Given the description of an element on the screen output the (x, y) to click on. 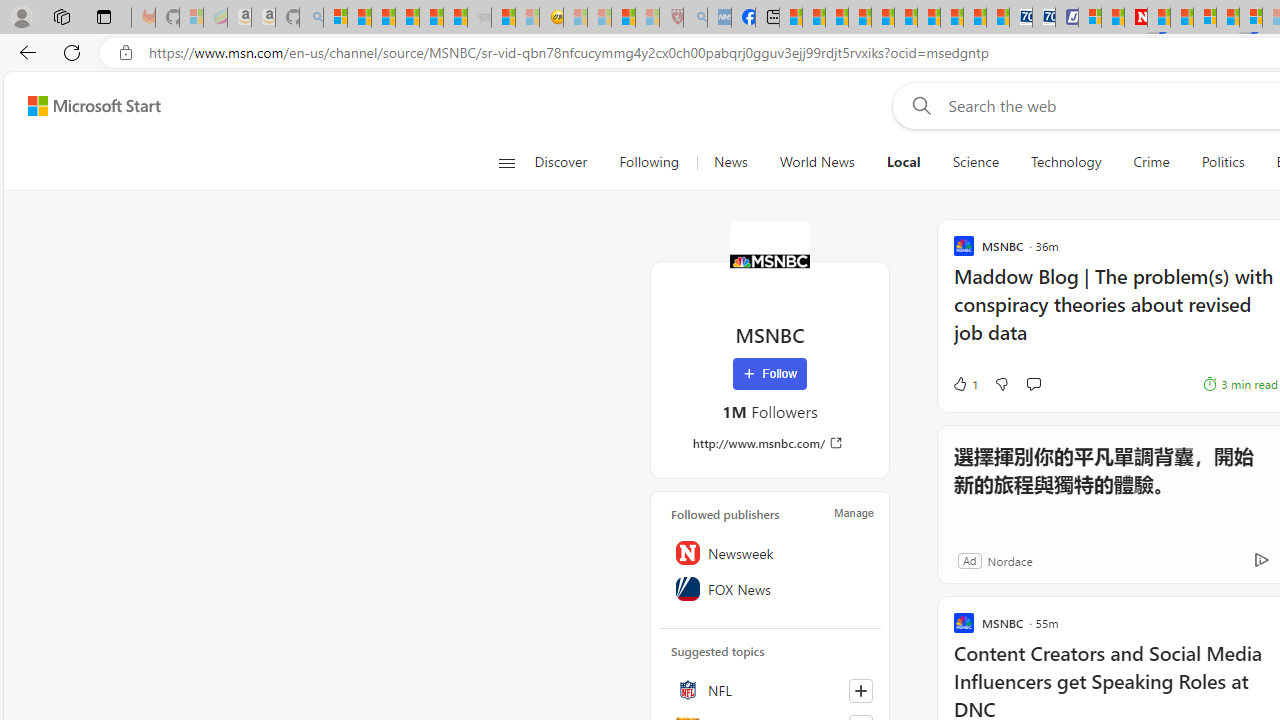
NFL (770, 690)
Newsweek (770, 552)
